Given the description of an element on the screen output the (x, y) to click on. 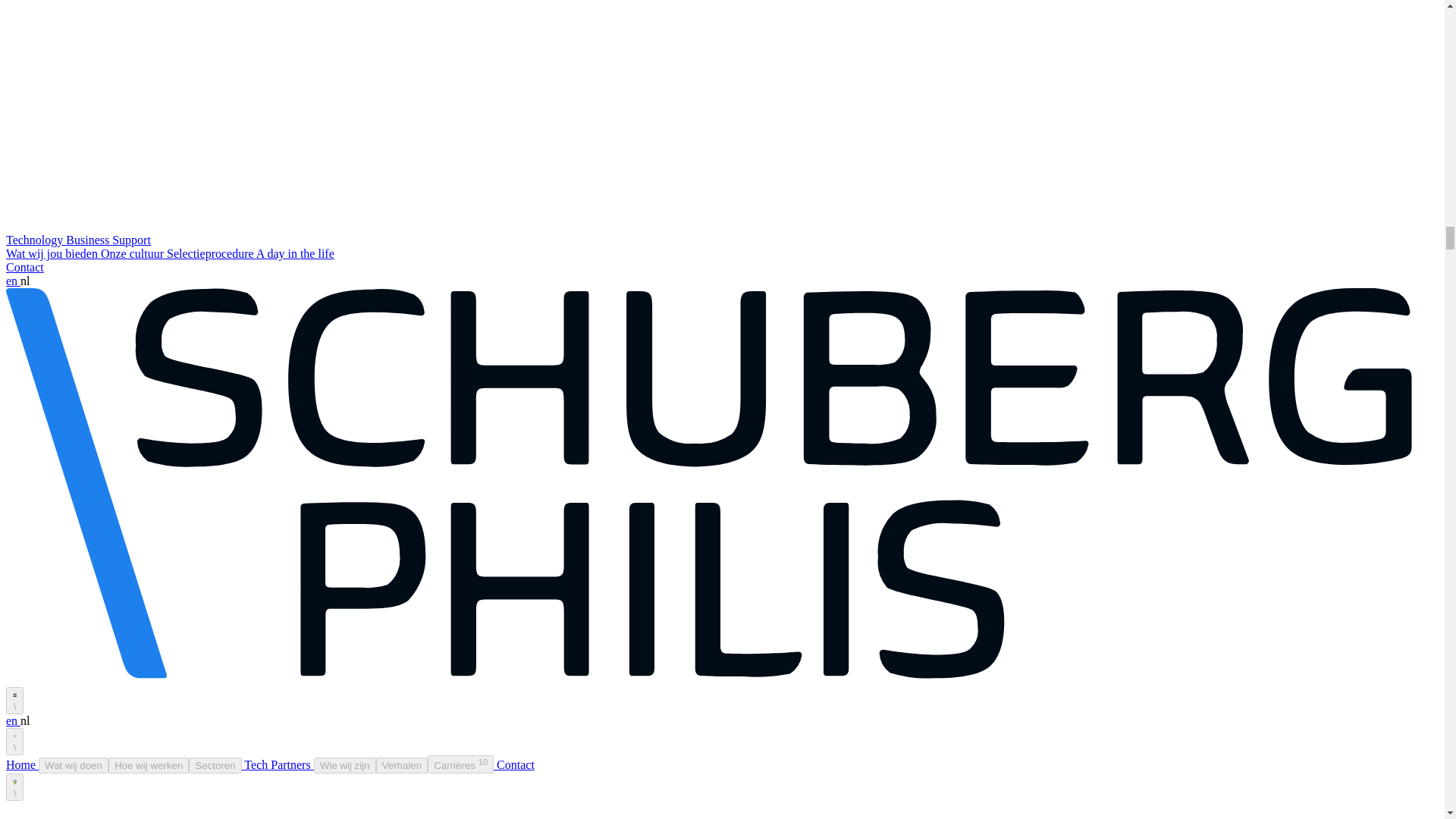
Support (131, 239)
Onze cultuur (133, 253)
Business (88, 239)
Wat wij jou bieden (52, 253)
Selectieprocedure (211, 253)
Technology (35, 239)
